Given the description of an element on the screen output the (x, y) to click on. 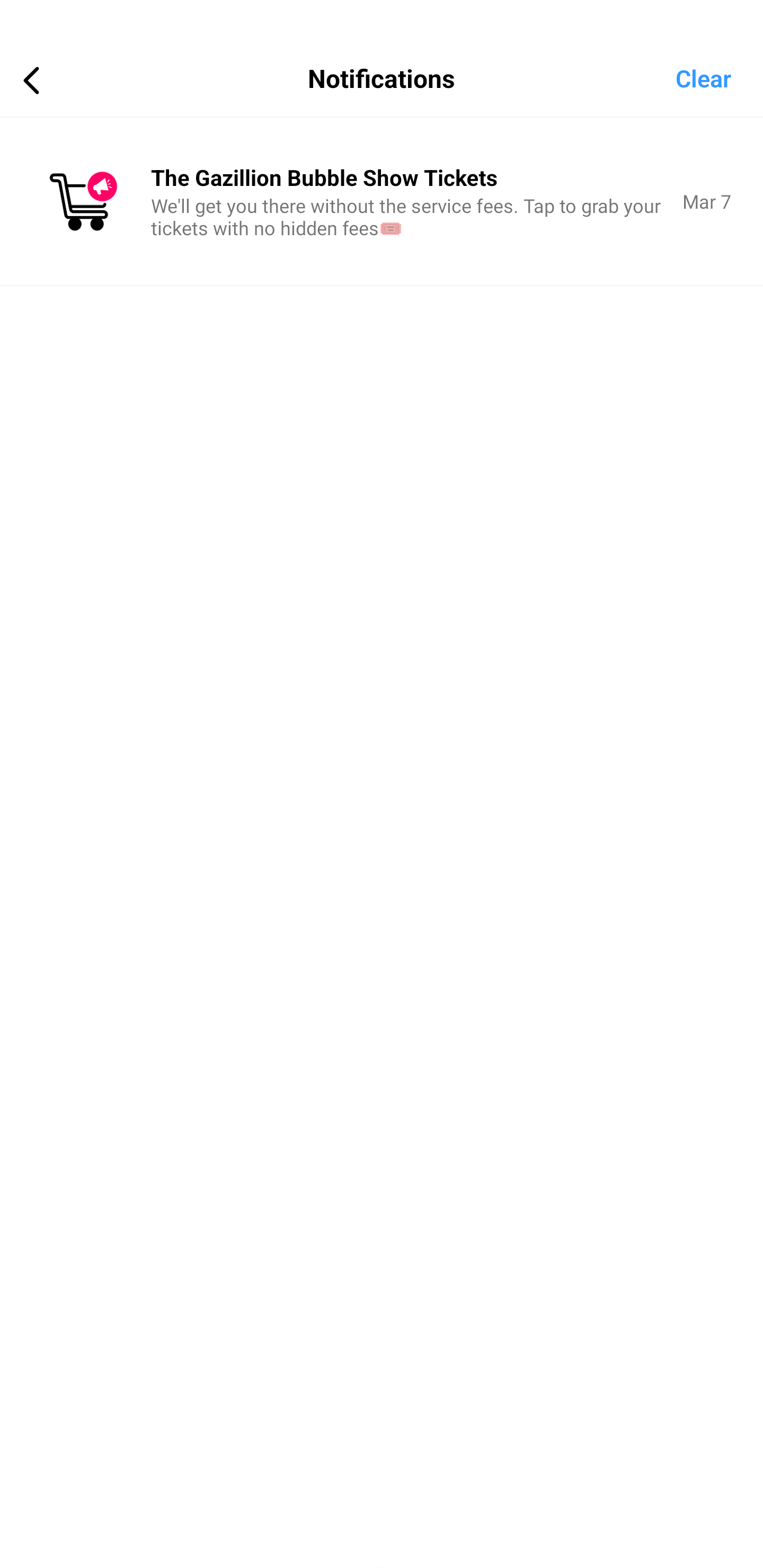
Clear (719, 77)
